Given the description of an element on the screen output the (x, y) to click on. 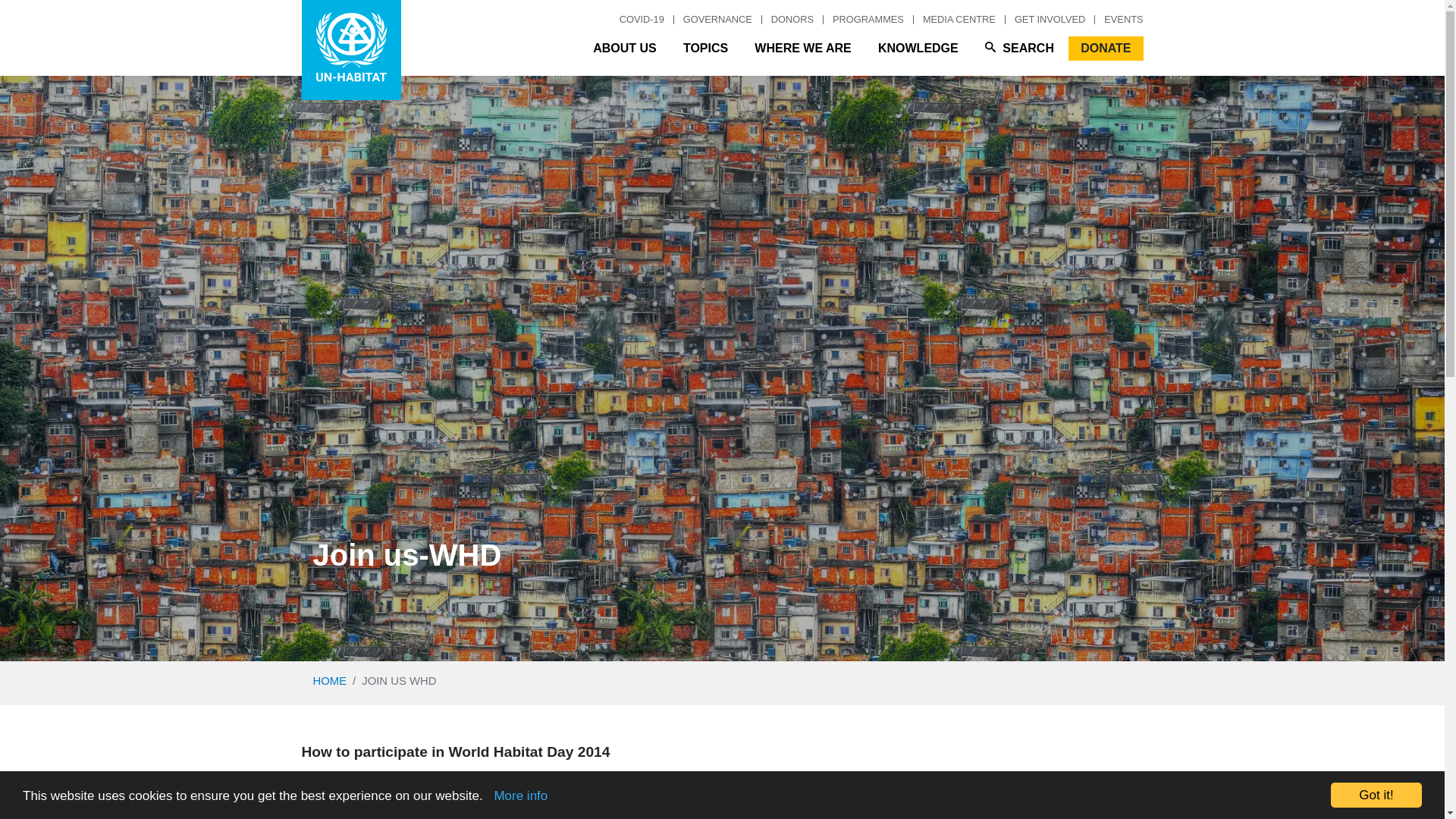
Home (351, 49)
